Given the description of an element on the screen output the (x, y) to click on. 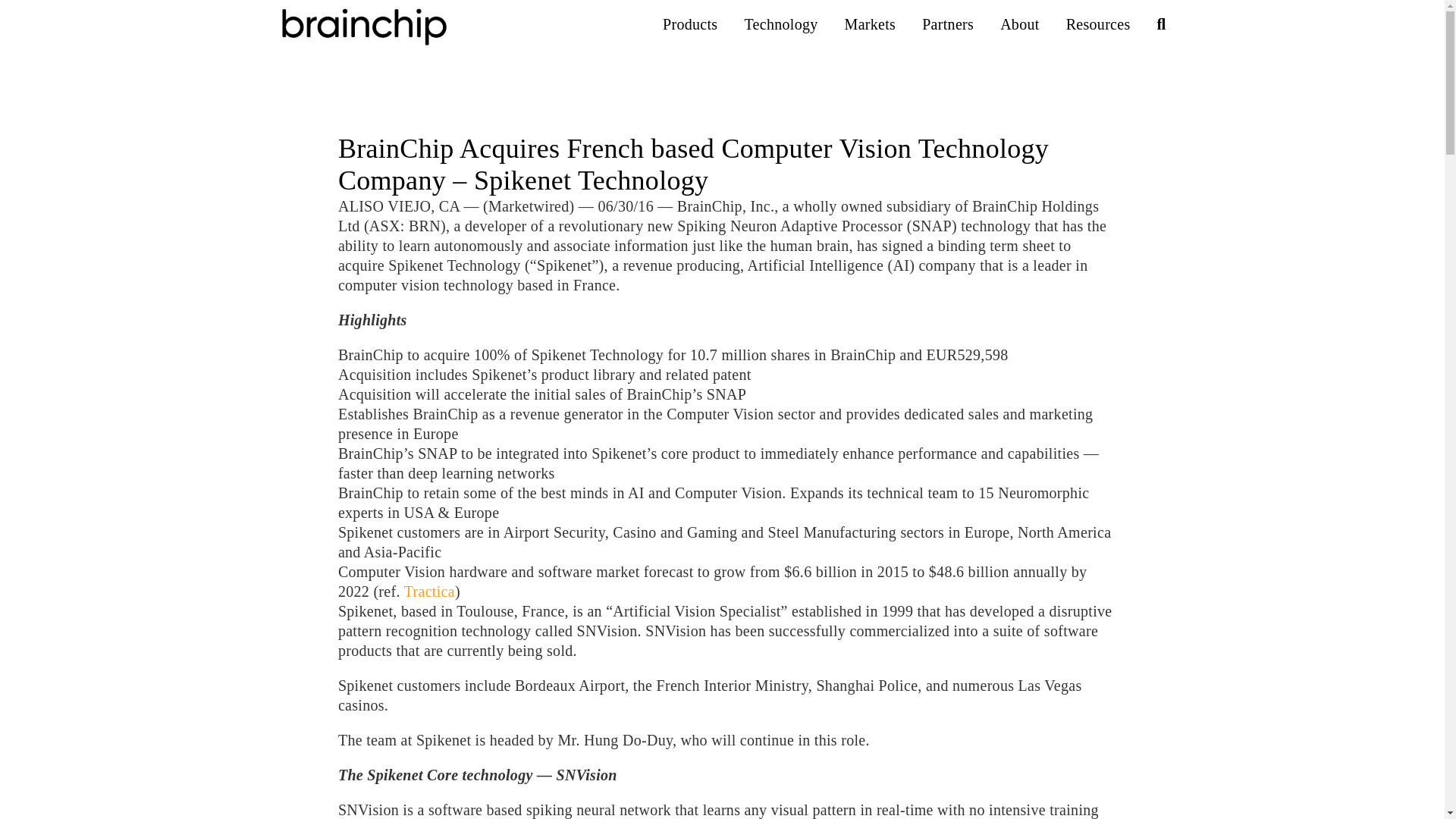
Technology (780, 24)
Markets (870, 24)
Products (689, 24)
Partners (947, 24)
Resources (1098, 24)
